Given the description of an element on the screen output the (x, y) to click on. 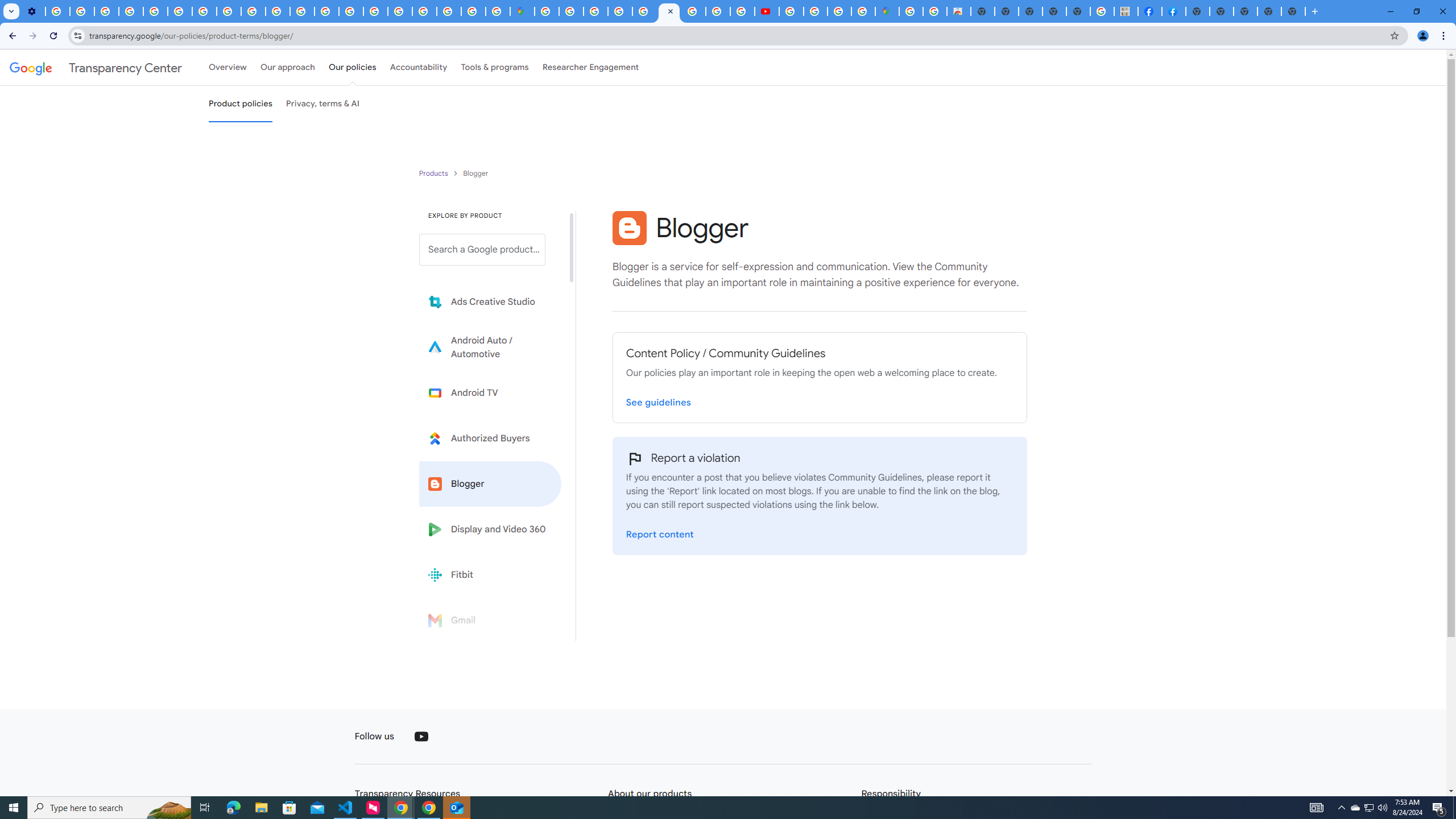
Privacy, terms & AI (322, 103)
Fitbit (490, 574)
Learn more about Android TV (490, 393)
Blogger Policies and Guidelines - Transparency Center (668, 11)
Learn more about Android Auto (490, 347)
Learn more about Authorized Buyers (490, 438)
New Tab (1197, 11)
Privacy Help Center - Policies Help (717, 11)
Researcher Engagement (590, 67)
Google Maps (887, 11)
